Given the description of an element on the screen output the (x, y) to click on. 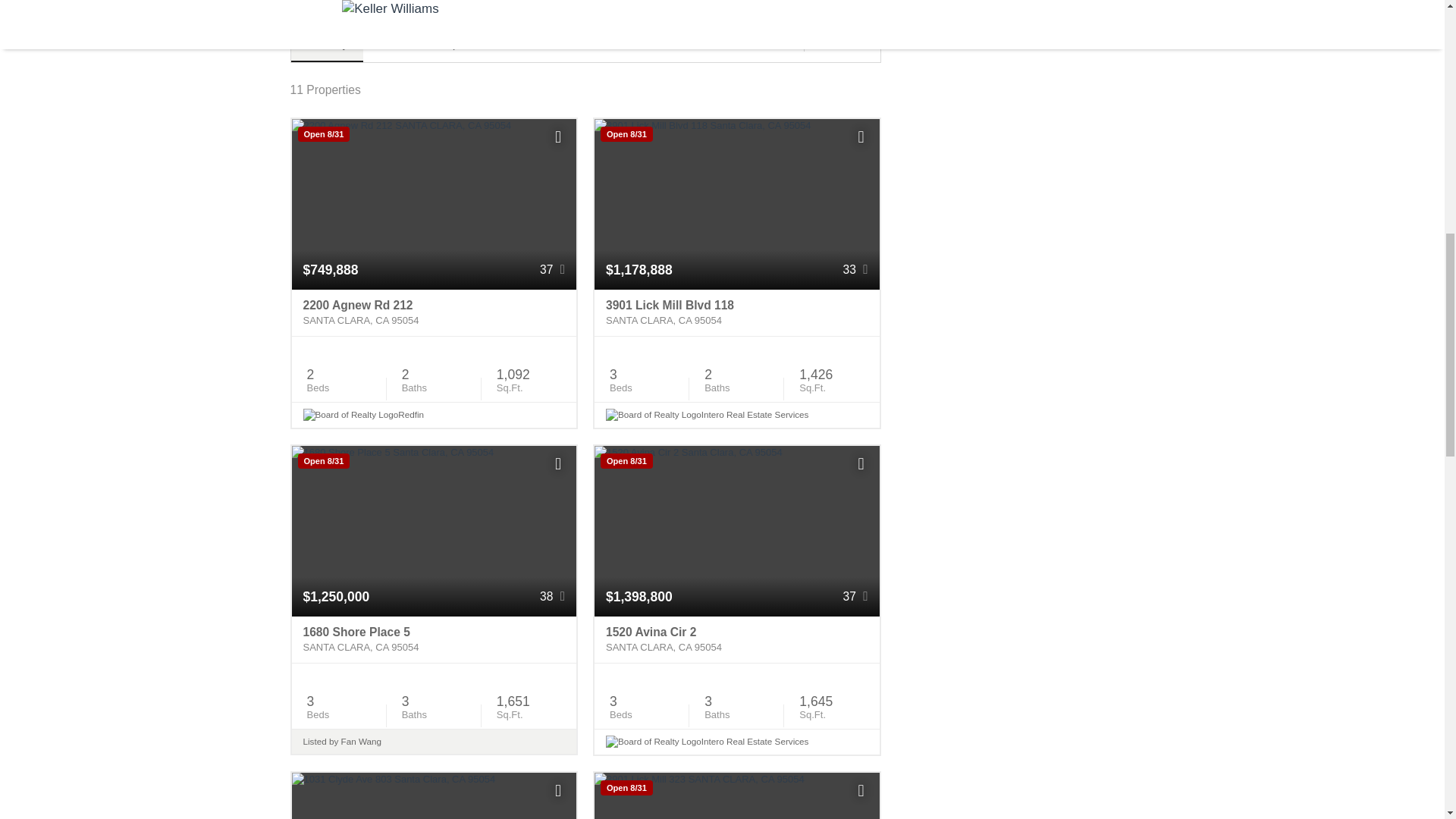
2200 Agnew Rd 212 SANTA CLARA,  CA 95054 (433, 312)
3901 Lick Mill Blvd 118 Santa Clara,  CA 95054 (736, 312)
1520 Avina Cir 2 Santa Clara,  CA 95054 (736, 639)
1680 Shore Place 5 Santa Clara,  CA 95054 (433, 639)
